Given the description of an element on the screen output the (x, y) to click on. 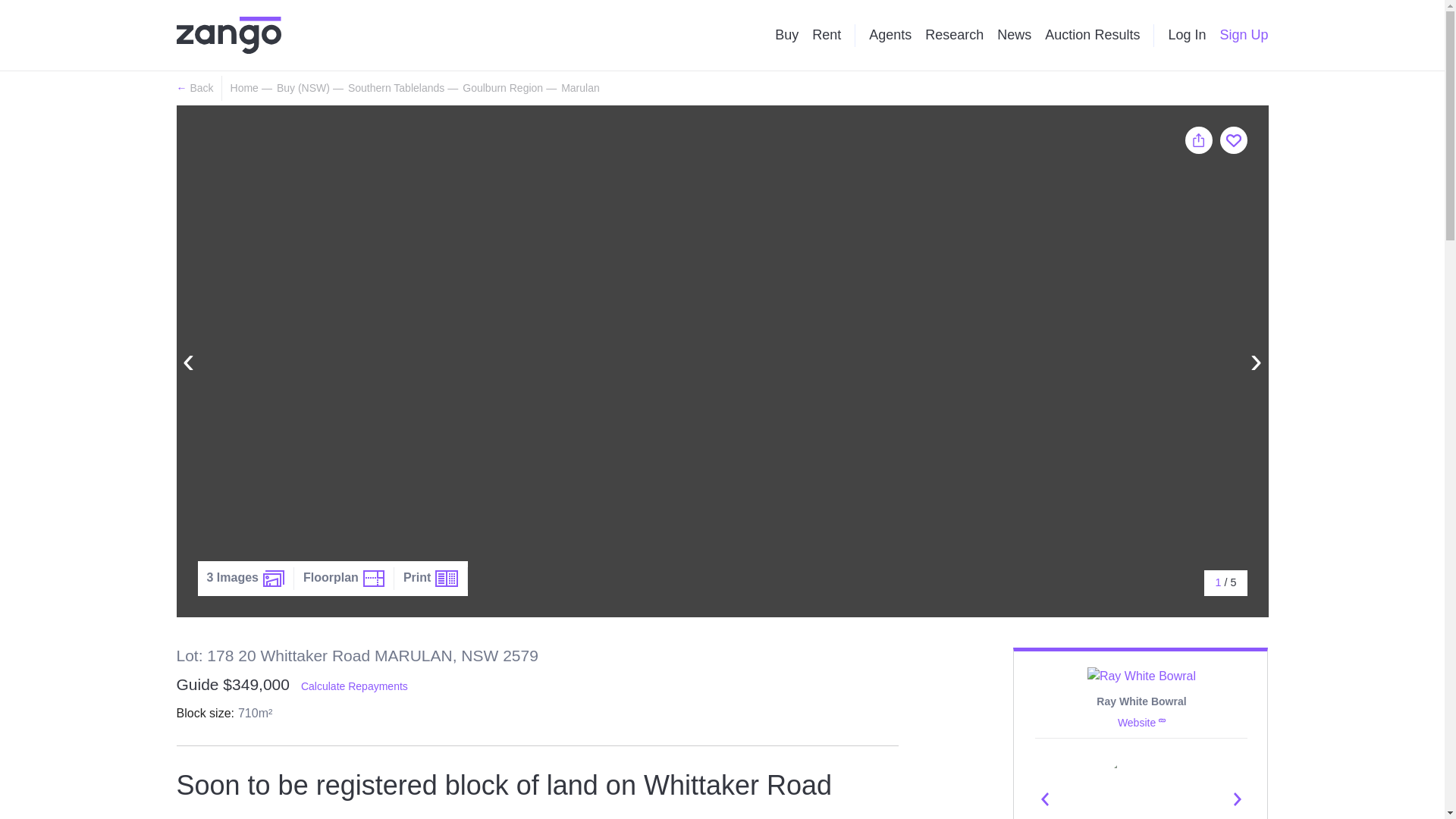
Goulburn Region (503, 87)
Zango Logo (228, 35)
Property brochure icon (446, 578)
Calculate Repayments (354, 686)
Research (954, 35)
Ray White Bowral (1141, 701)
Property Floorplan Icon (373, 578)
Zango Logo (228, 35)
Website (1142, 722)
PrintProperty brochure icon (430, 578)
